Given the description of an element on the screen output the (x, y) to click on. 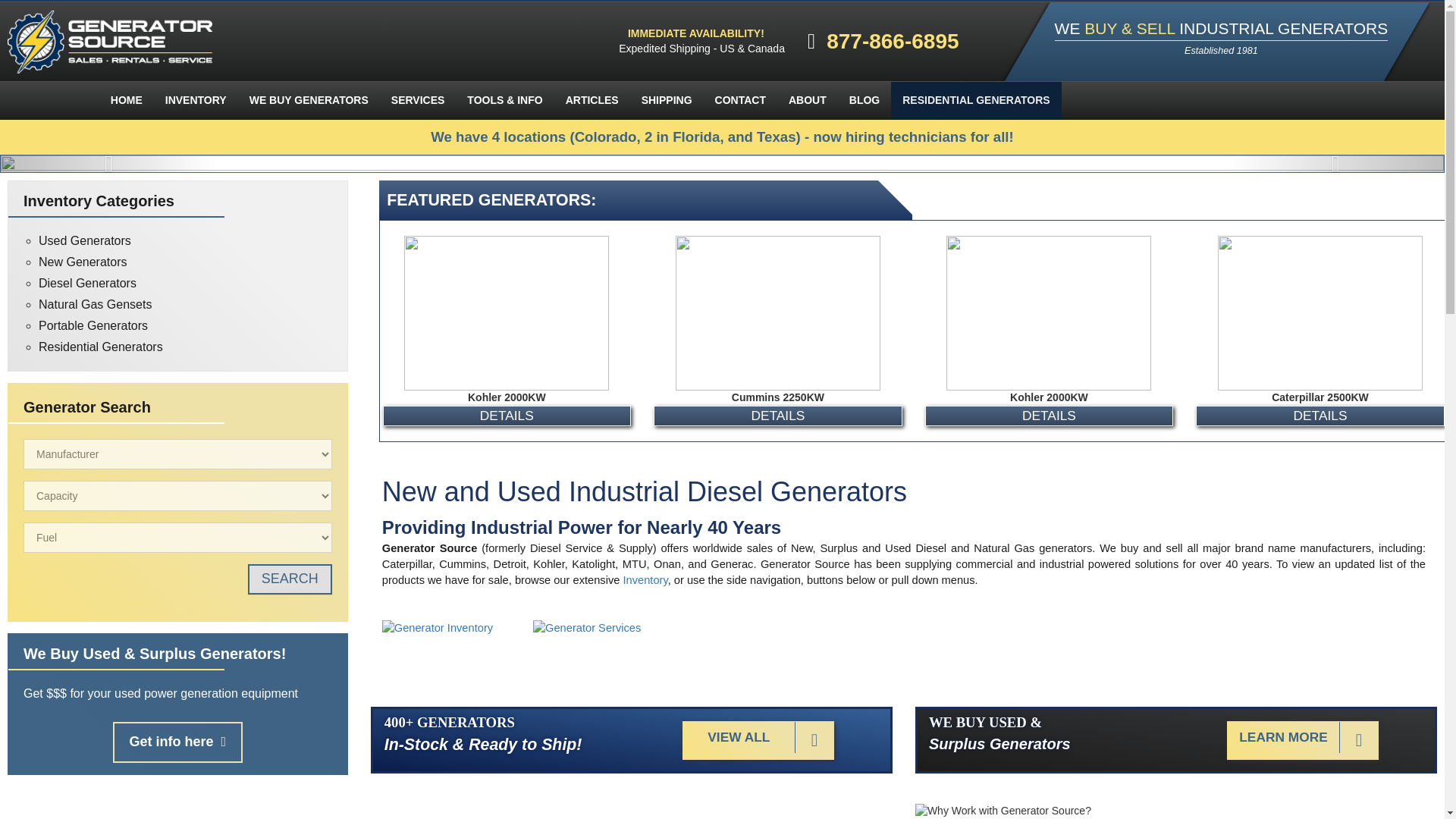
 877-866-6895 (906, 41)
website-cards-04.jpg (437, 627)
HOME (126, 100)
SERVICES (418, 100)
SEARCH (289, 579)
WE BUY GENERATORS (309, 100)
INVENTORY (196, 100)
website-cards-05.jpg (586, 627)
